Given the description of an element on the screen output the (x, y) to click on. 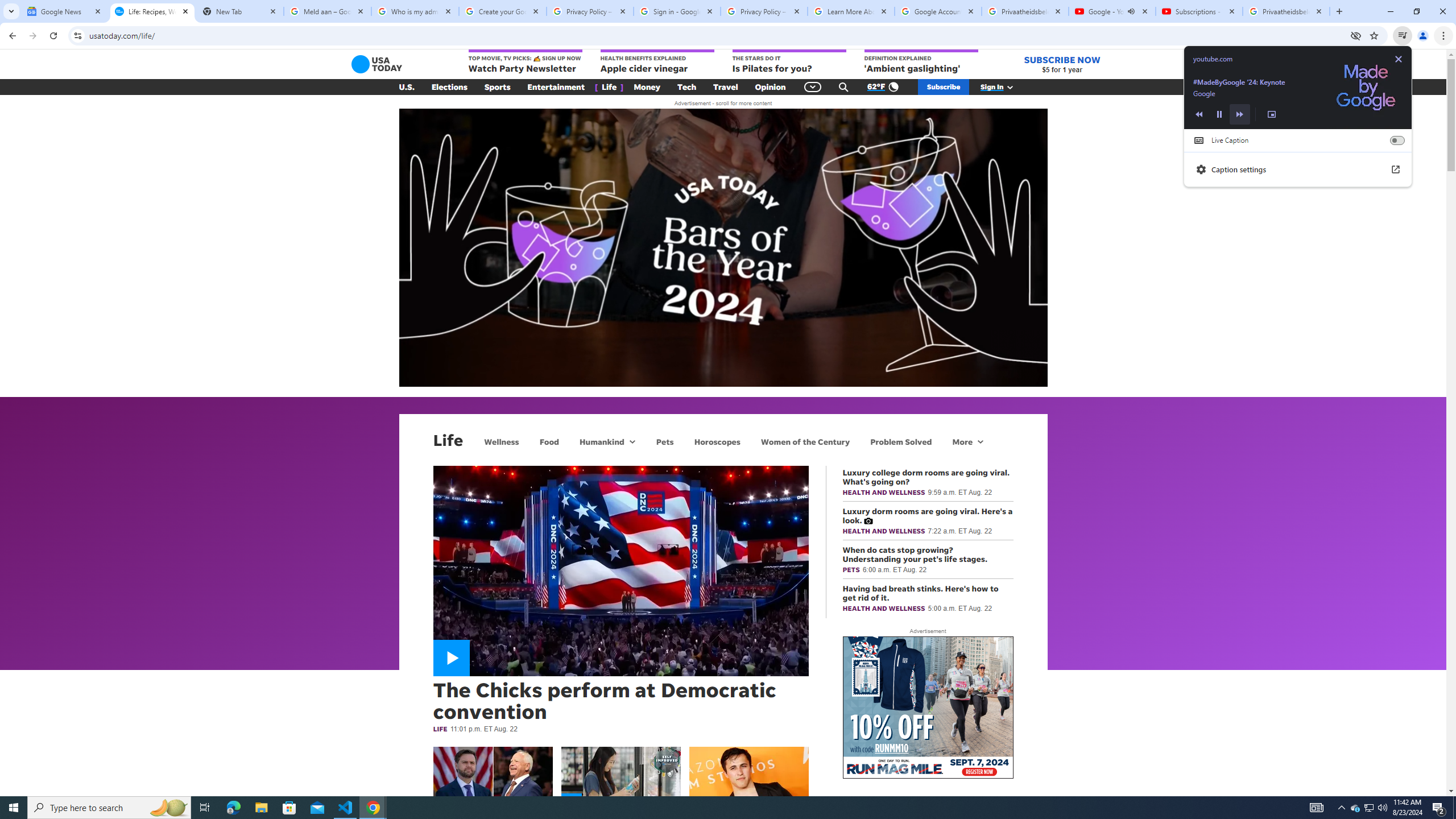
Sports (497, 87)
SUBSCRIBE NOW $5 for 1 year (1062, 64)
Subscribe (943, 87)
Microsoft Store (289, 807)
Subscriptions - YouTube (1198, 11)
